Given the description of an element on the screen output the (x, y) to click on. 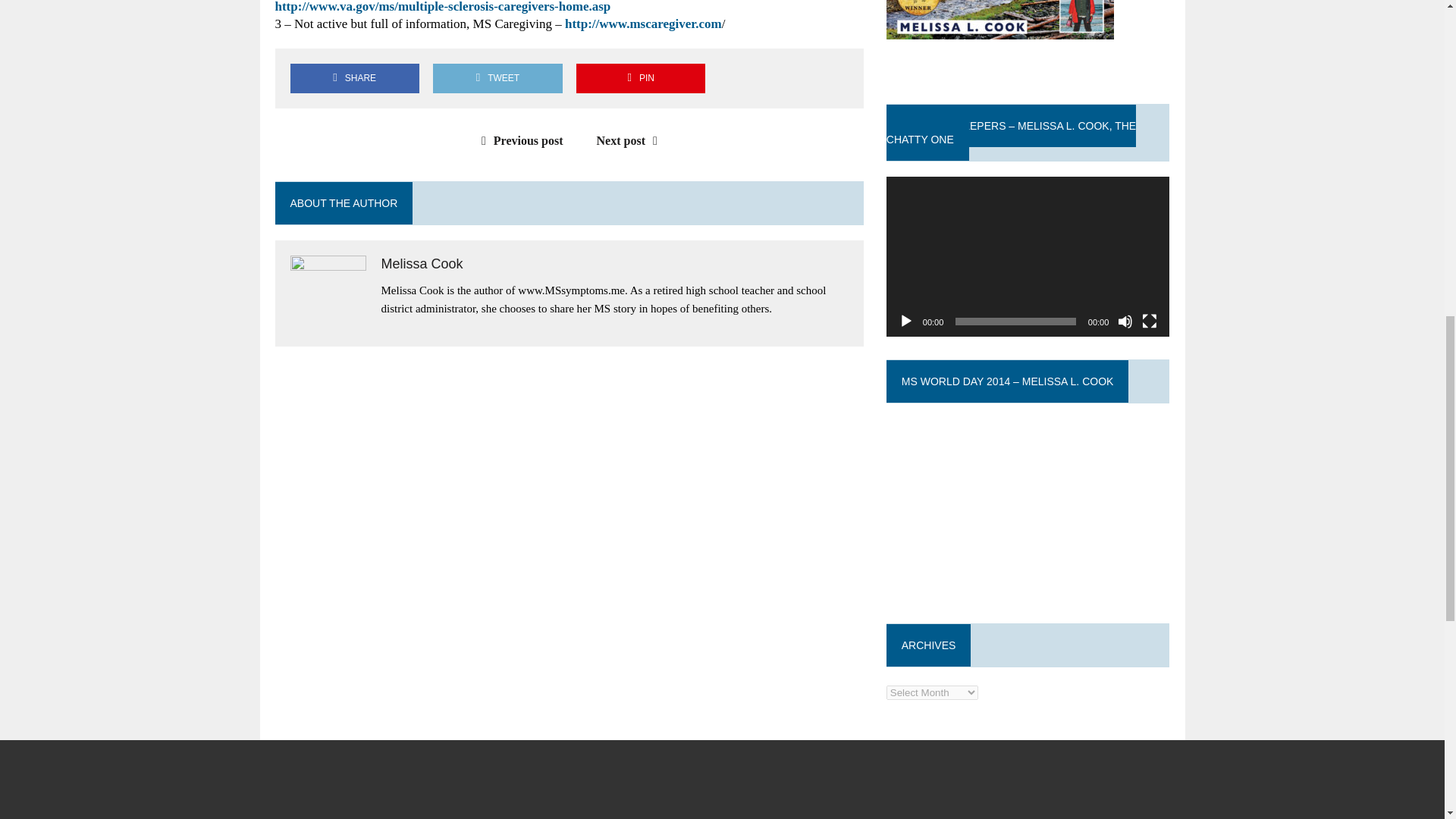
SHARE (354, 78)
Play (906, 321)
Pin This Post (640, 78)
PIN (640, 78)
Melissa Cook (421, 263)
Share on Facebook (354, 78)
Fullscreen (1149, 321)
TWEET (497, 78)
Mute (1125, 321)
Next post (630, 140)
Tweet This Post (497, 78)
Previous post (518, 140)
